Given the description of an element on the screen output the (x, y) to click on. 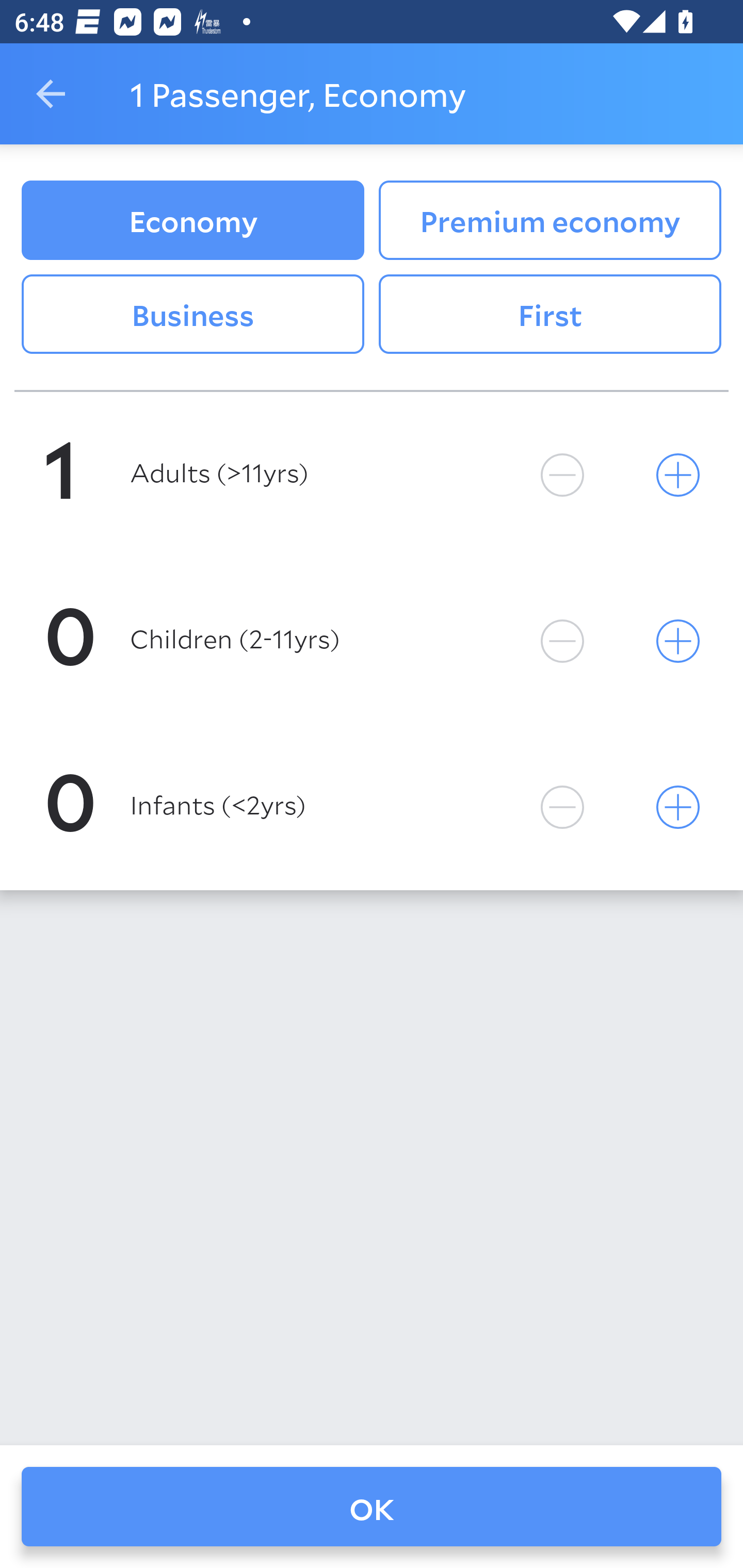
Navigate up (50, 93)
Economy (192, 220)
Premium economy (549, 220)
Business (192, 314)
First (549, 314)
OK (371, 1506)
